Given the description of an element on the screen output the (x, y) to click on. 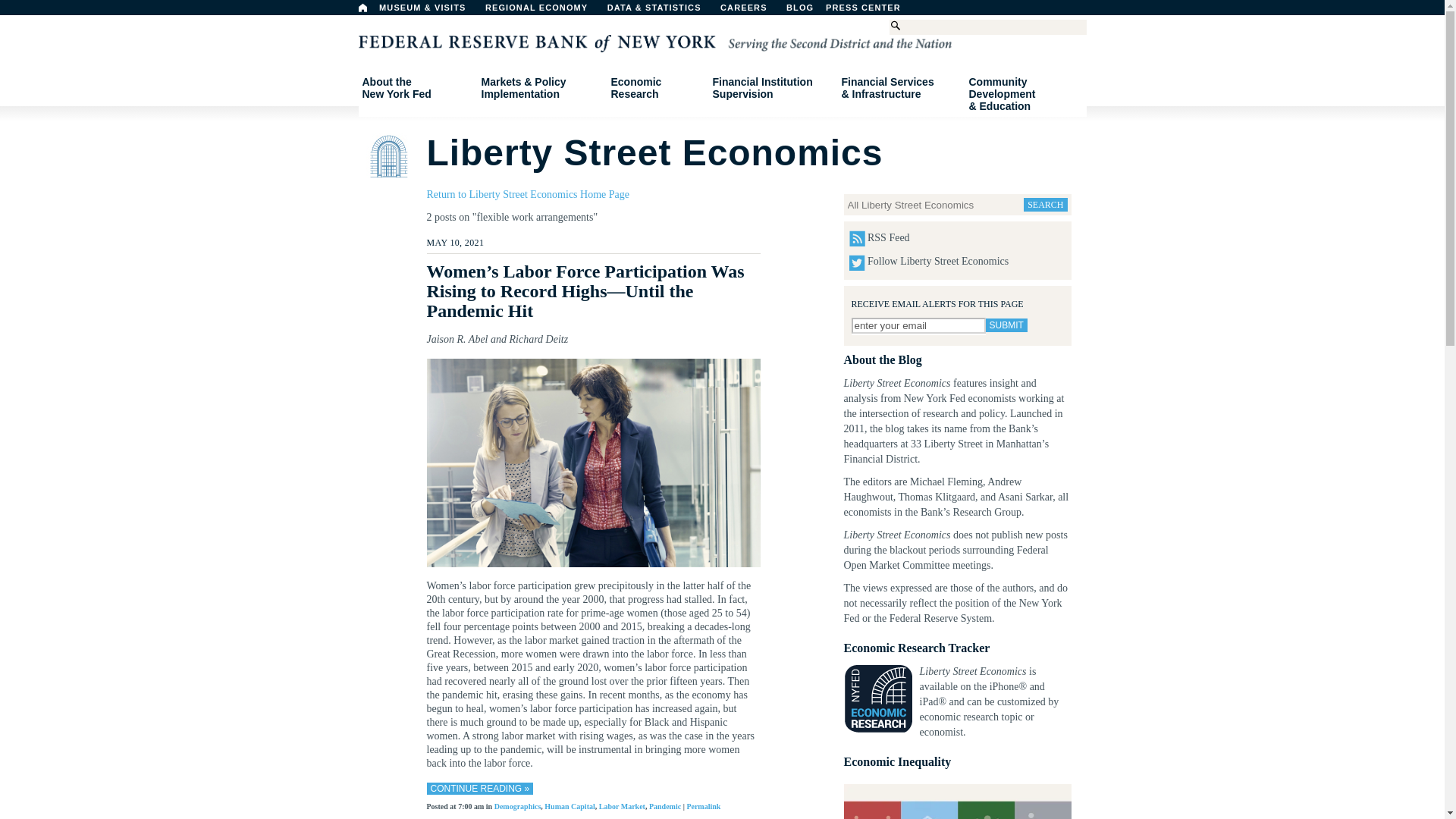
CAREERS (751, 11)
BLOG (415, 87)
enter your email (839, 11)
REGIONAL ECONOMY (917, 325)
Home (543, 11)
Submit (362, 8)
PRESS CENTER (1006, 325)
